Given the description of an element on the screen output the (x, y) to click on. 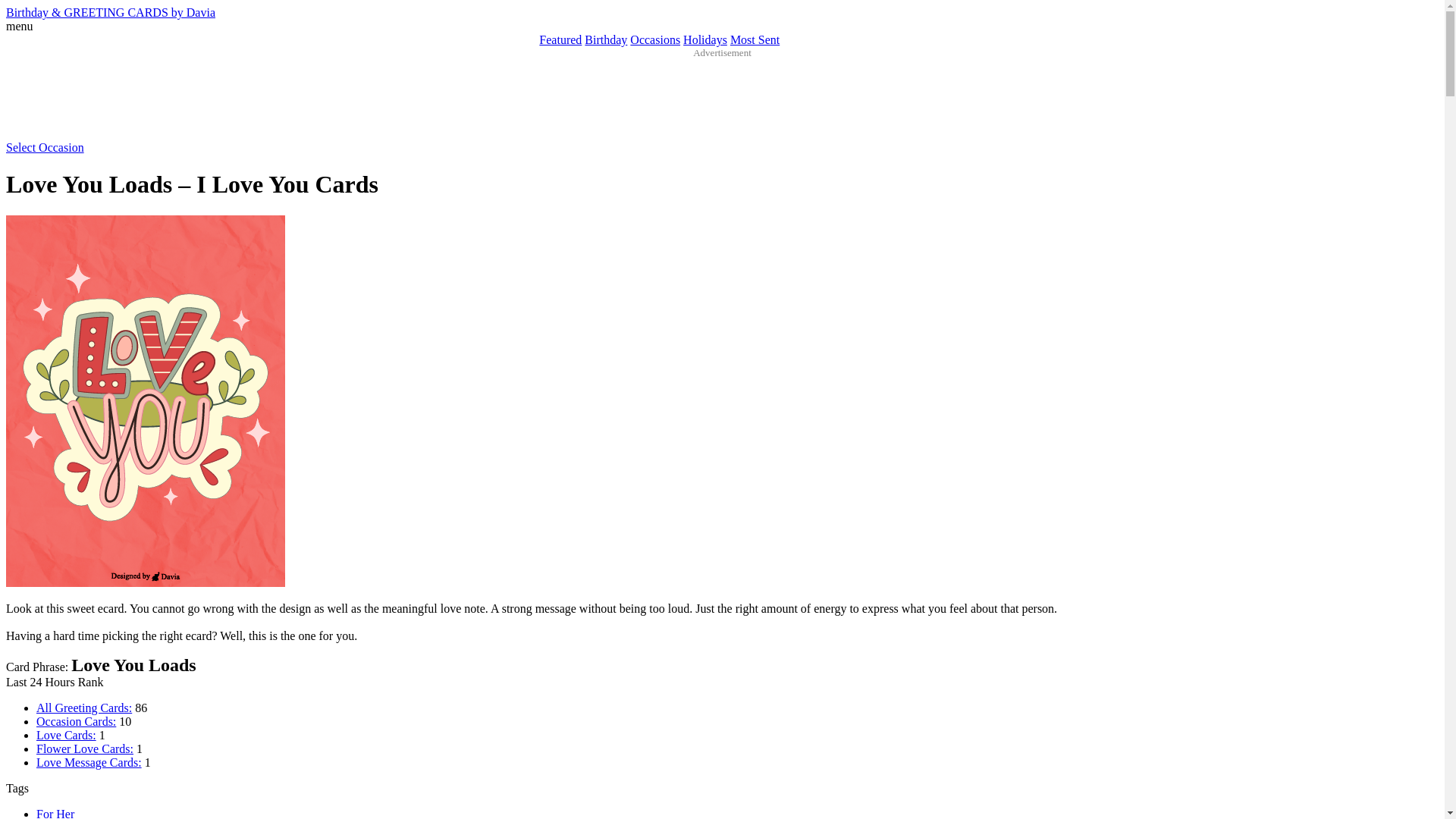
Featured (559, 39)
All Greeting Cards: (84, 707)
Flower Love Cards: (84, 748)
Most Sent (754, 39)
Select Occasion (44, 146)
Birthday (606, 39)
For Her (55, 813)
Occasion Cards: (76, 721)
Love Cards: (66, 735)
Holidays (704, 39)
Occasions (654, 39)
Love Message Cards: (88, 762)
